Given the description of an element on the screen output the (x, y) to click on. 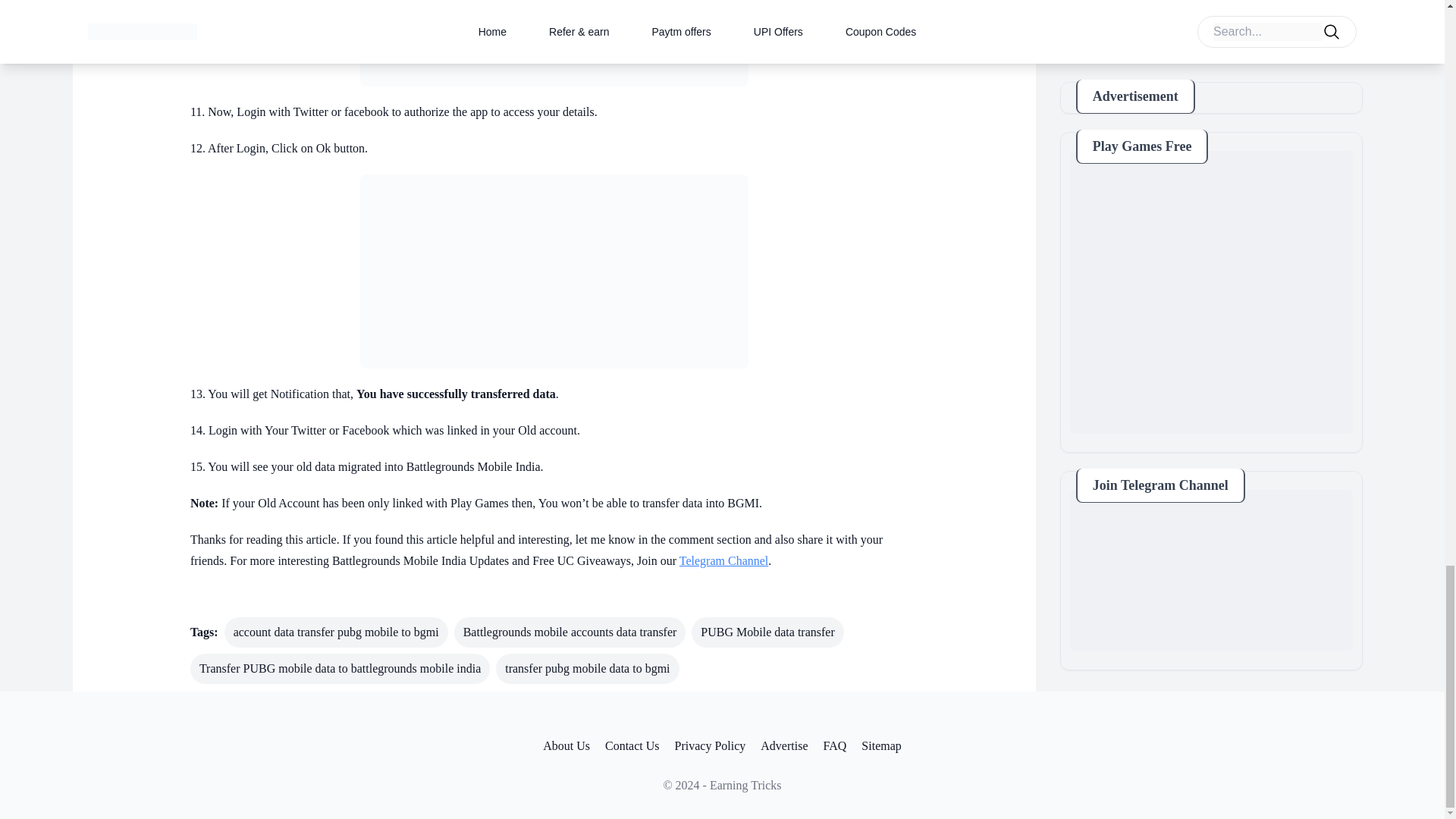
Transfer PUBG mobile data to battlegrounds mobile india (339, 668)
transfer pubg mobile data to bgmi (587, 668)
Transfer PUBG Mobile Data to Battlegrounds Mobile India (553, 271)
About Us (566, 745)
Contact Us (632, 745)
Battlegrounds mobile accounts data transfer (569, 632)
Transfer PUBG Mobile Data to Battlegrounds Mobile India (553, 43)
Telegram Channel (723, 560)
account data transfer pubg mobile to bgmi (336, 632)
PUBG Mobile data transfer (767, 632)
Transfer PUBG mobile data to battlegrounds mobile india (339, 668)
transfer pubg mobile data to bgmi (587, 668)
FAQ (835, 745)
PUBG Mobile data transfer (767, 632)
account data transfer pubg mobile to bgmi (336, 632)
